Given the description of an element on the screen output the (x, y) to click on. 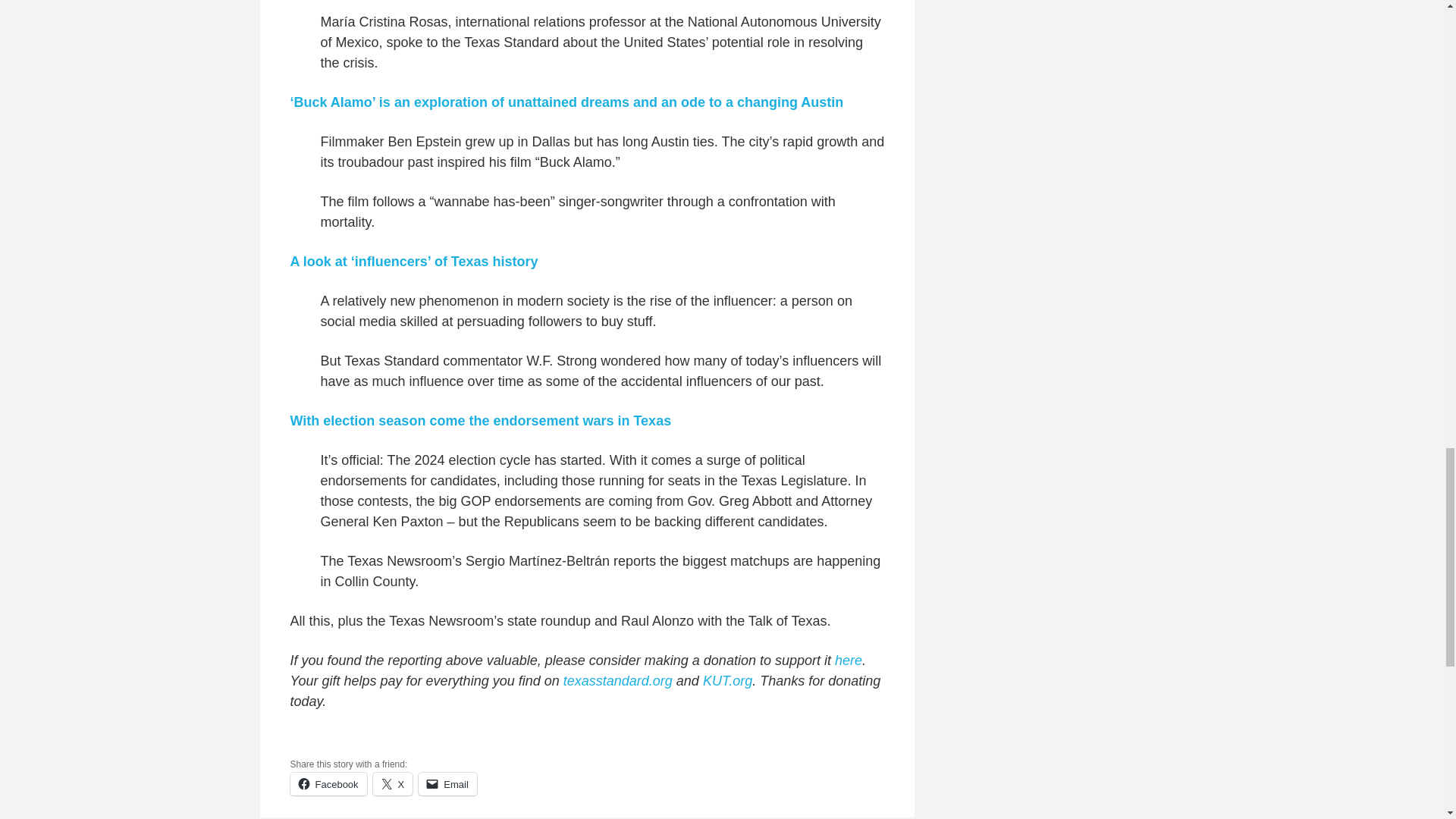
Click to share on Facebook (327, 784)
Click to share on X (392, 784)
Click to email a link to a friend (448, 784)
